Given the description of an element on the screen output the (x, y) to click on. 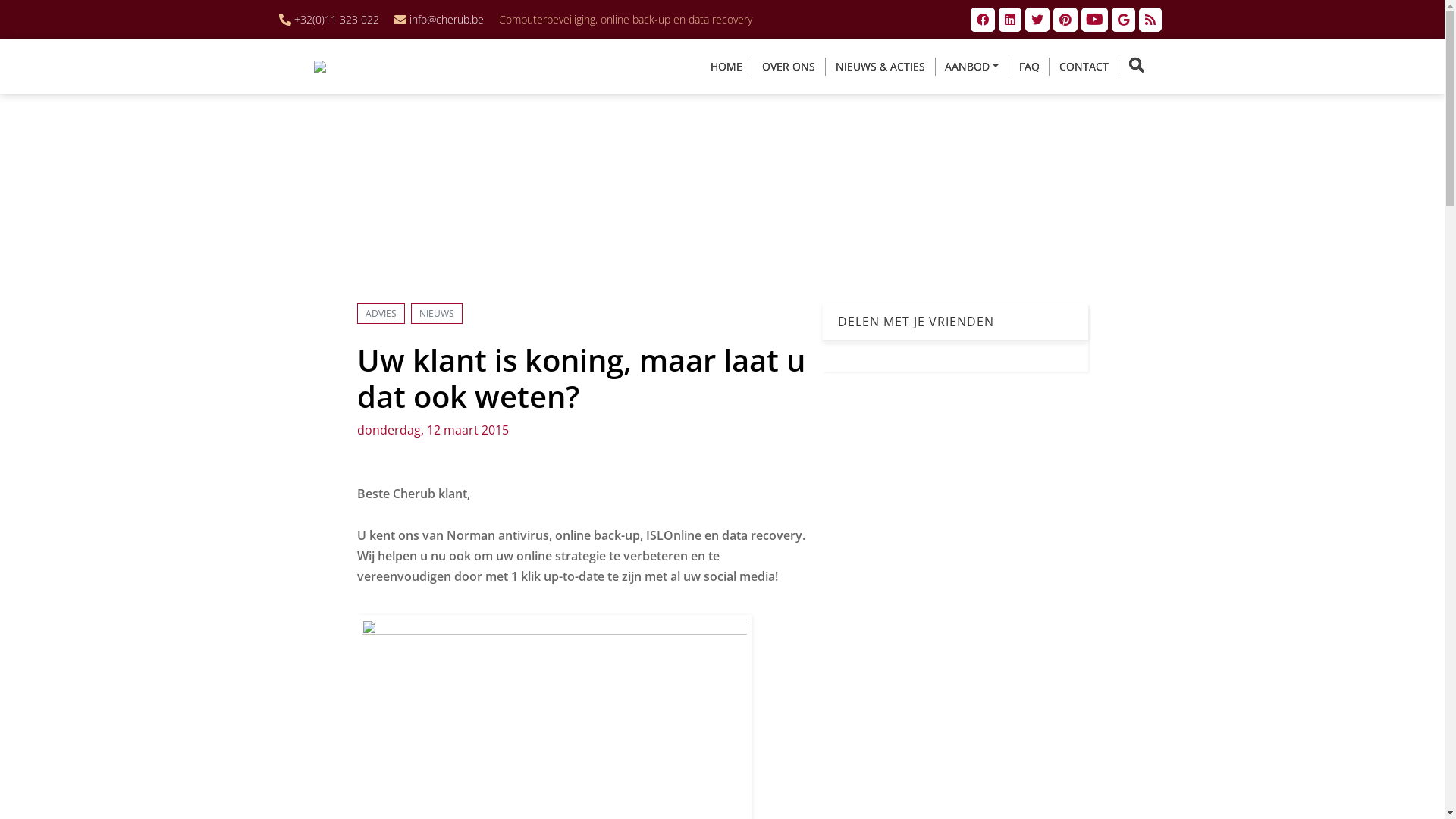
ADVIES Element type: text (380, 313)
OVER ONS Element type: text (788, 66)
HOME Element type: text (726, 66)
FAQ Element type: text (1029, 66)
NIEUWS & ACTIES Element type: text (880, 66)
info@cherub.be Element type: text (446, 19)
AANBOD Element type: text (971, 66)
+32(0)11 323 022 Element type: text (336, 19)
NIEUWS Element type: text (436, 313)
CONTACT Element type: text (1083, 66)
